Given the description of an element on the screen output the (x, y) to click on. 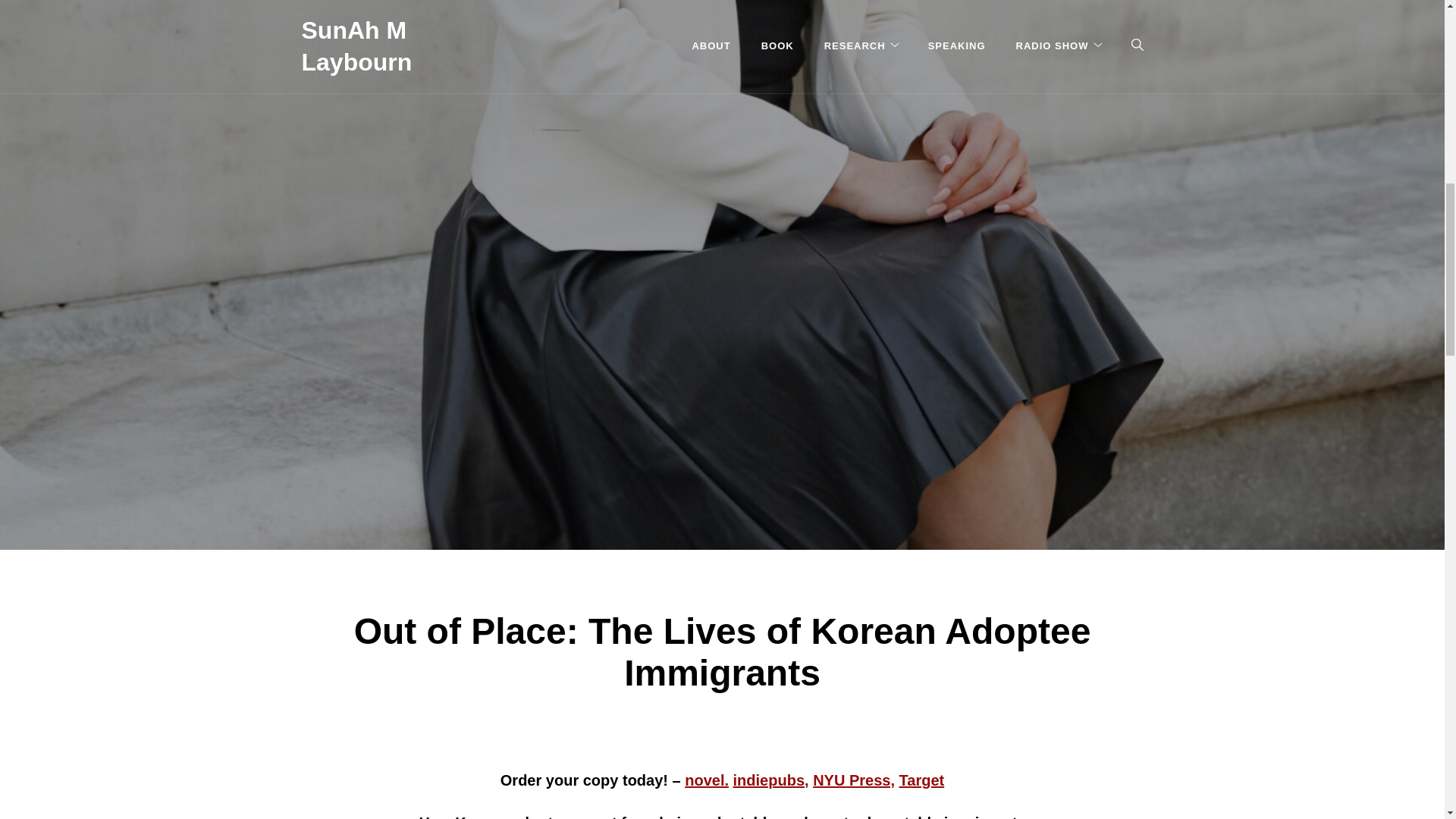
indiepubs, (771, 780)
Target (921, 780)
novel. (706, 780)
NYU Press, (853, 780)
